Given the description of an element on the screen output the (x, y) to click on. 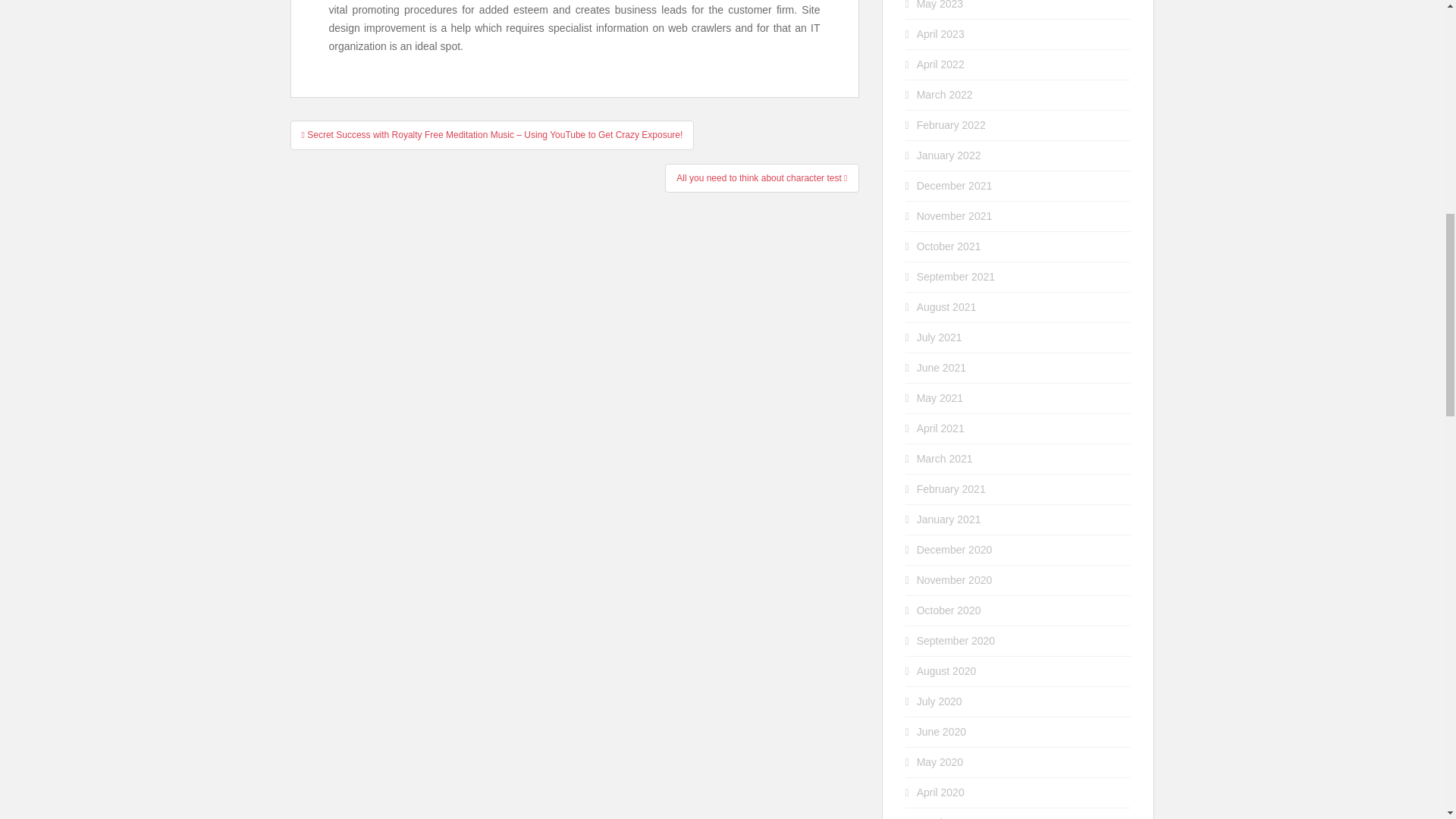
All you need to think about character test (762, 177)
April 2022 (940, 64)
May 2023 (939, 4)
March 2022 (944, 94)
April 2023 (940, 33)
